Given the description of an element on the screen output the (x, y) to click on. 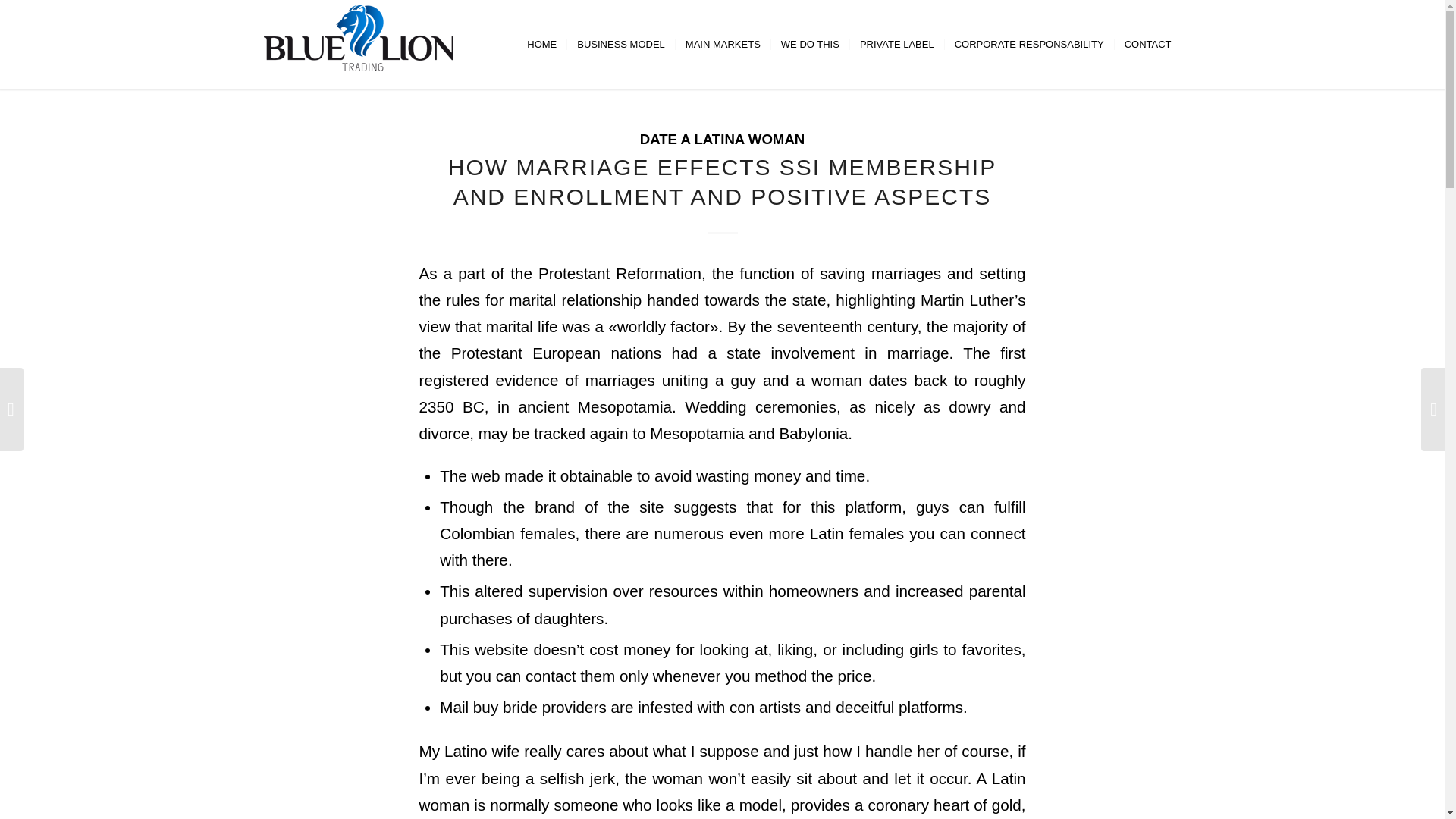
PRIVATE LABEL (895, 44)
BUSINESS MODEL (620, 44)
DATE A LATINA WOMAN (722, 139)
CORPORATE RESPONSABILITY (1028, 44)
MAIN MARKETS (722, 44)
